Given the description of an element on the screen output the (x, y) to click on. 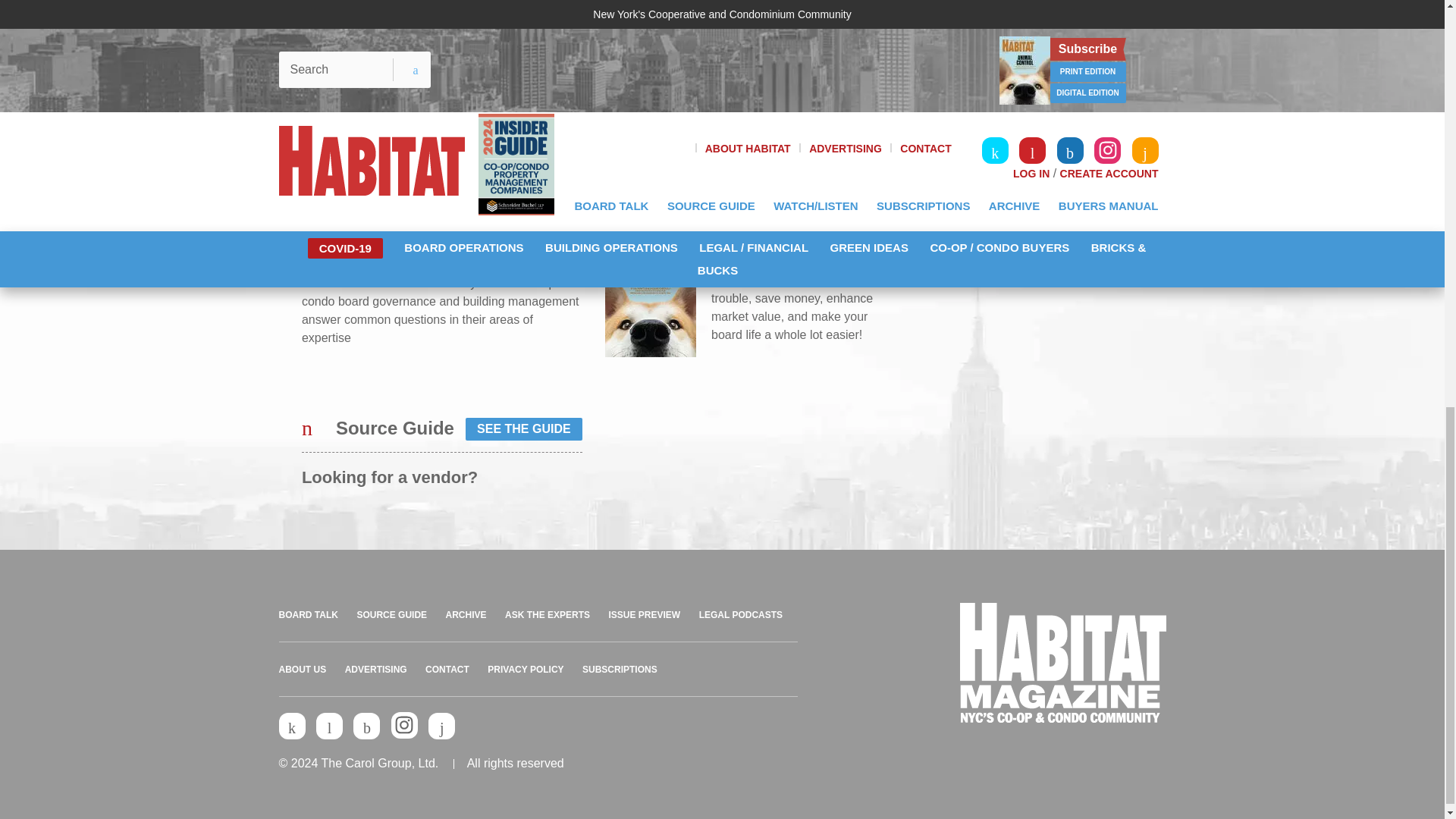
Visit Instagram page (404, 724)
